Given the description of an element on the screen output the (x, y) to click on. 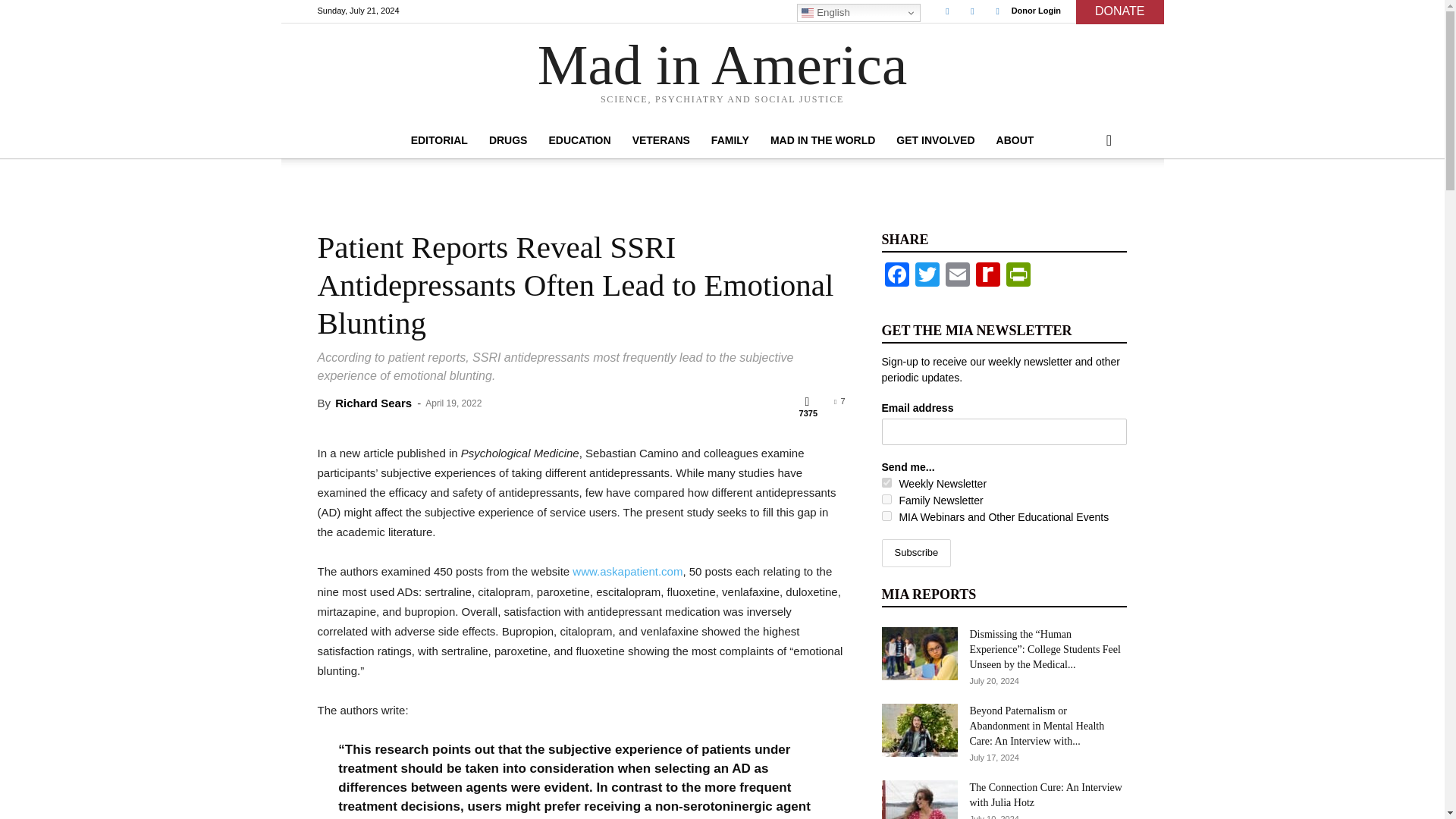
Youtube (998, 10)
64ec82b4cd (885, 499)
Subscribe (915, 552)
59a3706891 (885, 515)
Twitter (972, 10)
a8b577bac2 (885, 482)
Facebook (947, 10)
Posts by Richard Sears (373, 402)
